Given the description of an element on the screen output the (x, y) to click on. 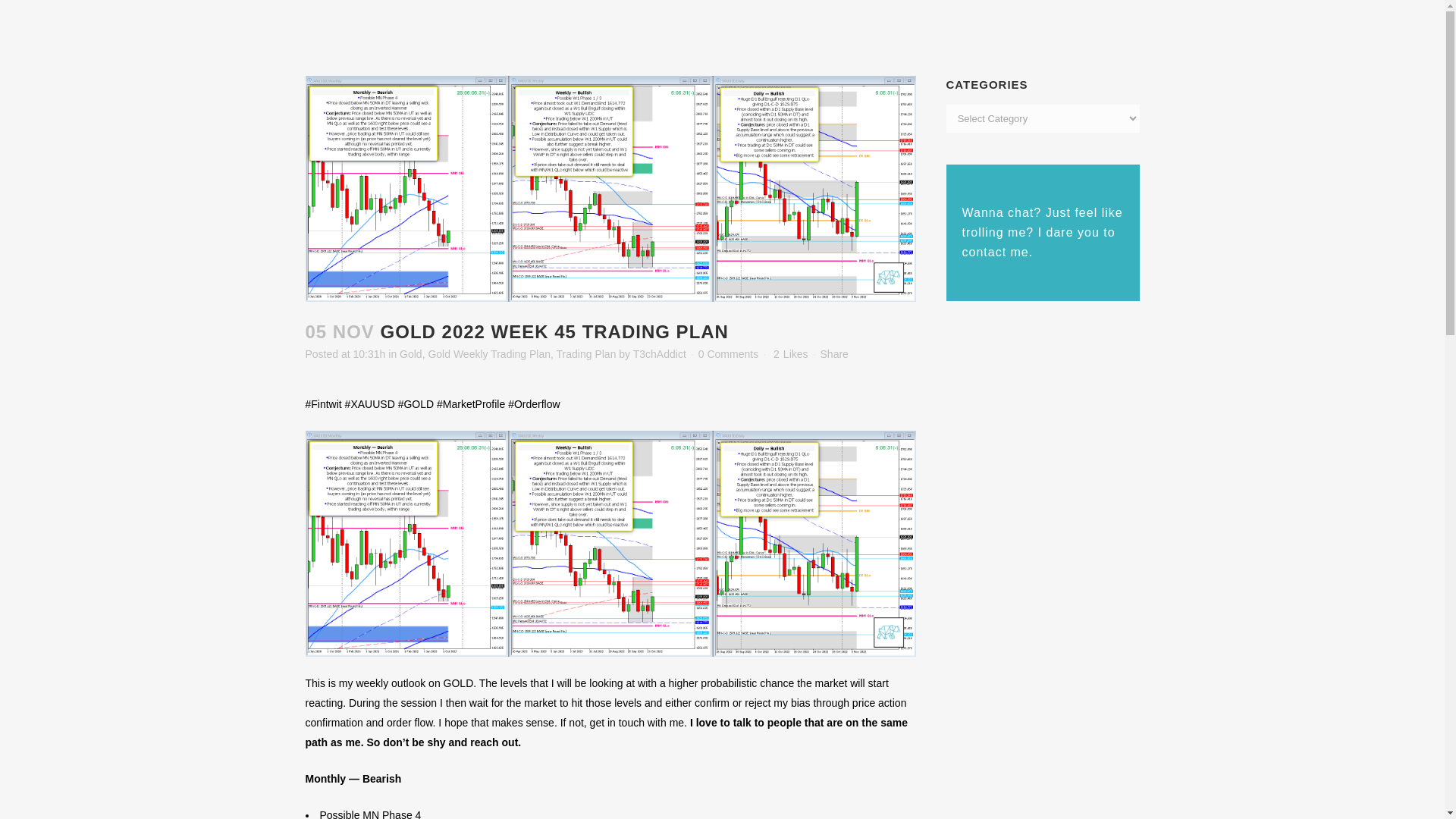
0 Comments (728, 354)
2 Likes (790, 353)
Gold Weekly Trading Plan (489, 354)
Trading Plan (585, 354)
Share (834, 354)
Gold (410, 354)
Like this (790, 353)
T3chAddict (659, 354)
